Given the description of an element on the screen output the (x, y) to click on. 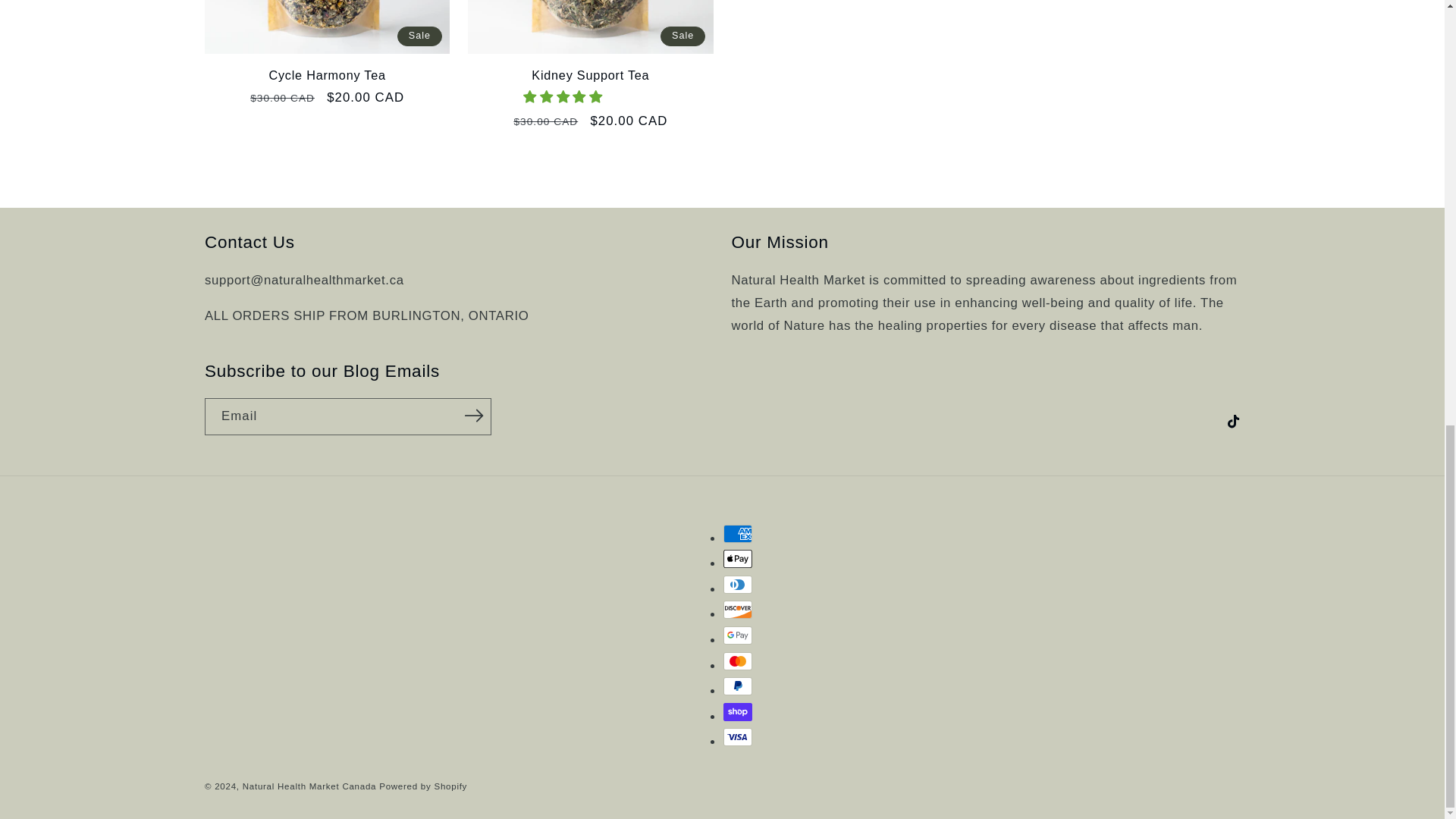
Diners Club (737, 584)
Google Pay (737, 635)
PayPal (737, 686)
Visa (737, 737)
Mastercard (737, 660)
Apple Pay (737, 558)
Discover (737, 609)
Shop Pay (737, 711)
American Express (737, 533)
